Given the description of an element on the screen output the (x, y) to click on. 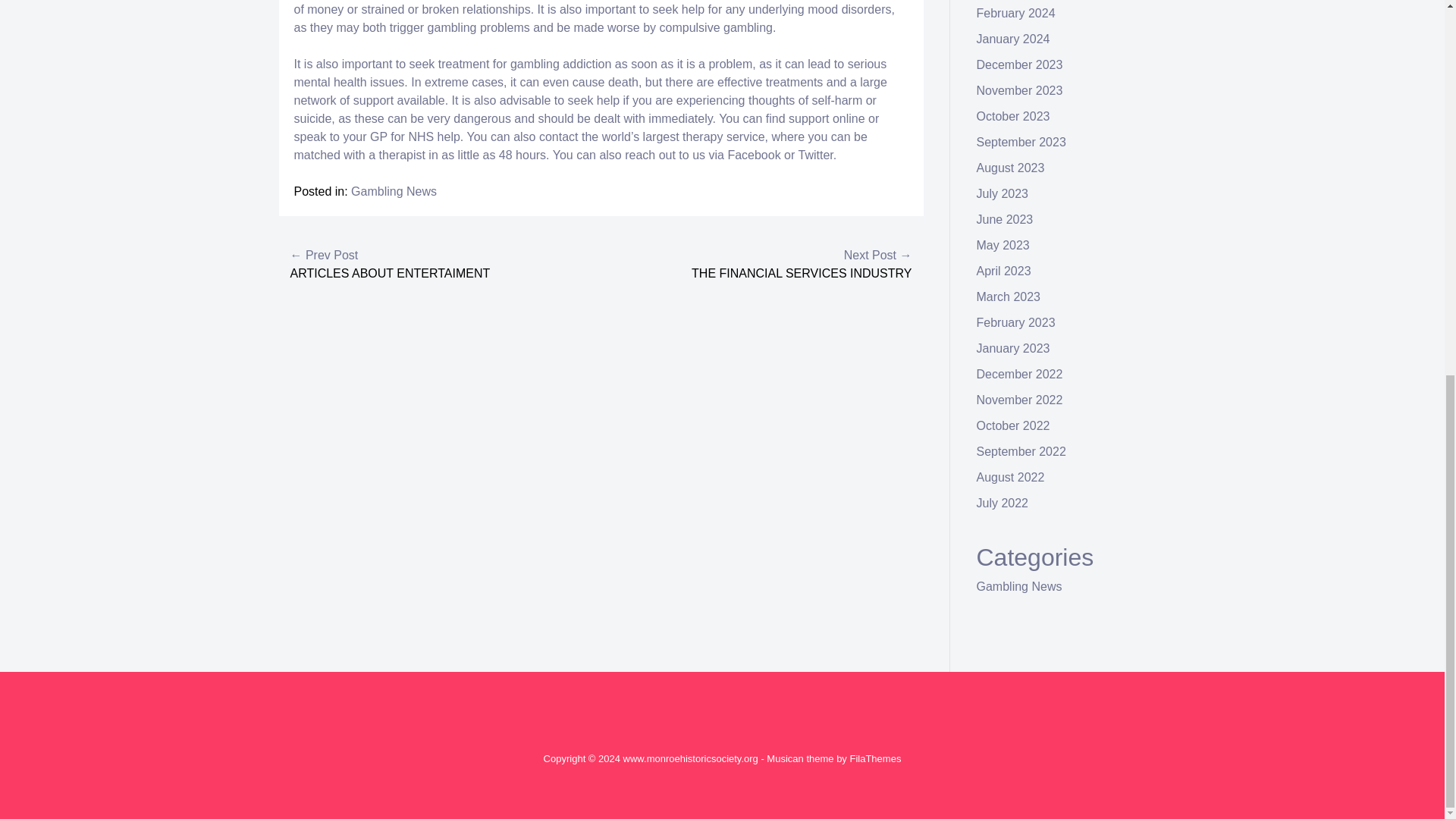
January 2023 (1012, 348)
August 2023 (1010, 167)
June 2023 (1004, 219)
February 2024 (1015, 12)
April 2023 (1003, 270)
July 2023 (1002, 193)
October 2023 (1012, 115)
December 2023 (1019, 64)
September 2023 (1020, 141)
October 2022 (1012, 425)
